Given the description of an element on the screen output the (x, y) to click on. 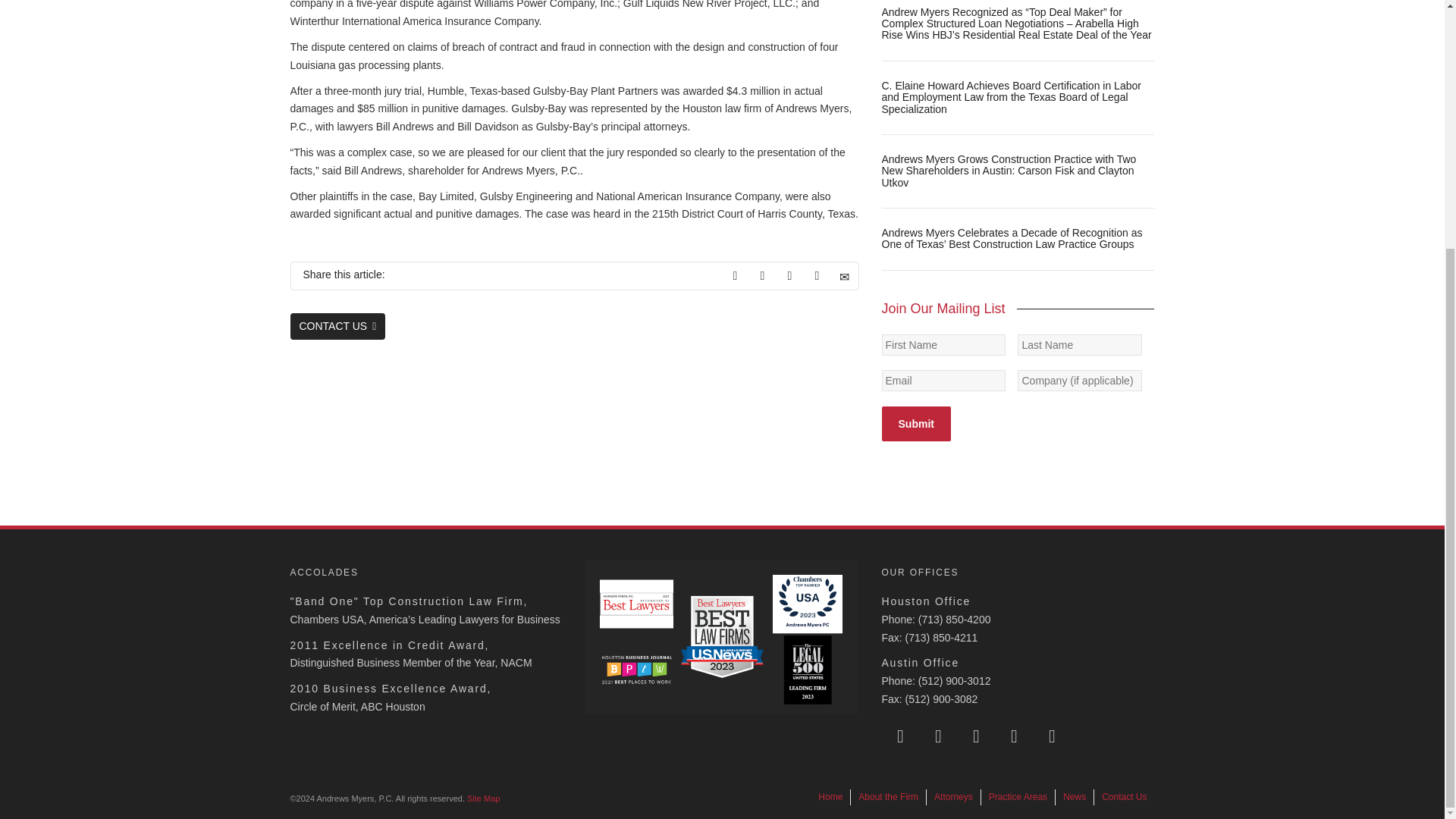
Submit (915, 423)
